Given the description of an element on the screen output the (x, y) to click on. 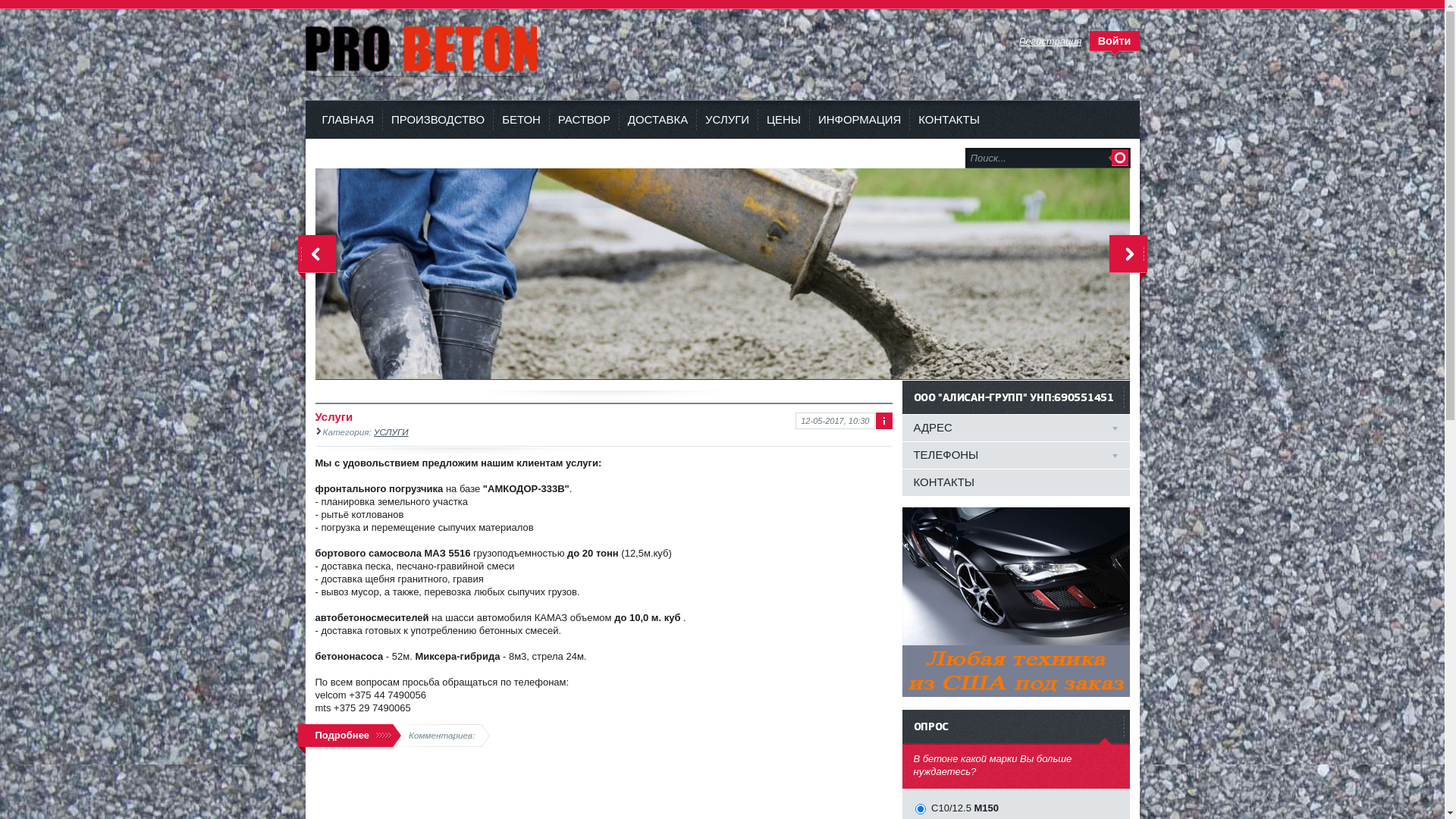
< Element type: text (316, 257)
> Element type: text (1127, 257)
12-05-2017, 10:30 Element type: text (834, 420)
